Given the description of an element on the screen output the (x, y) to click on. 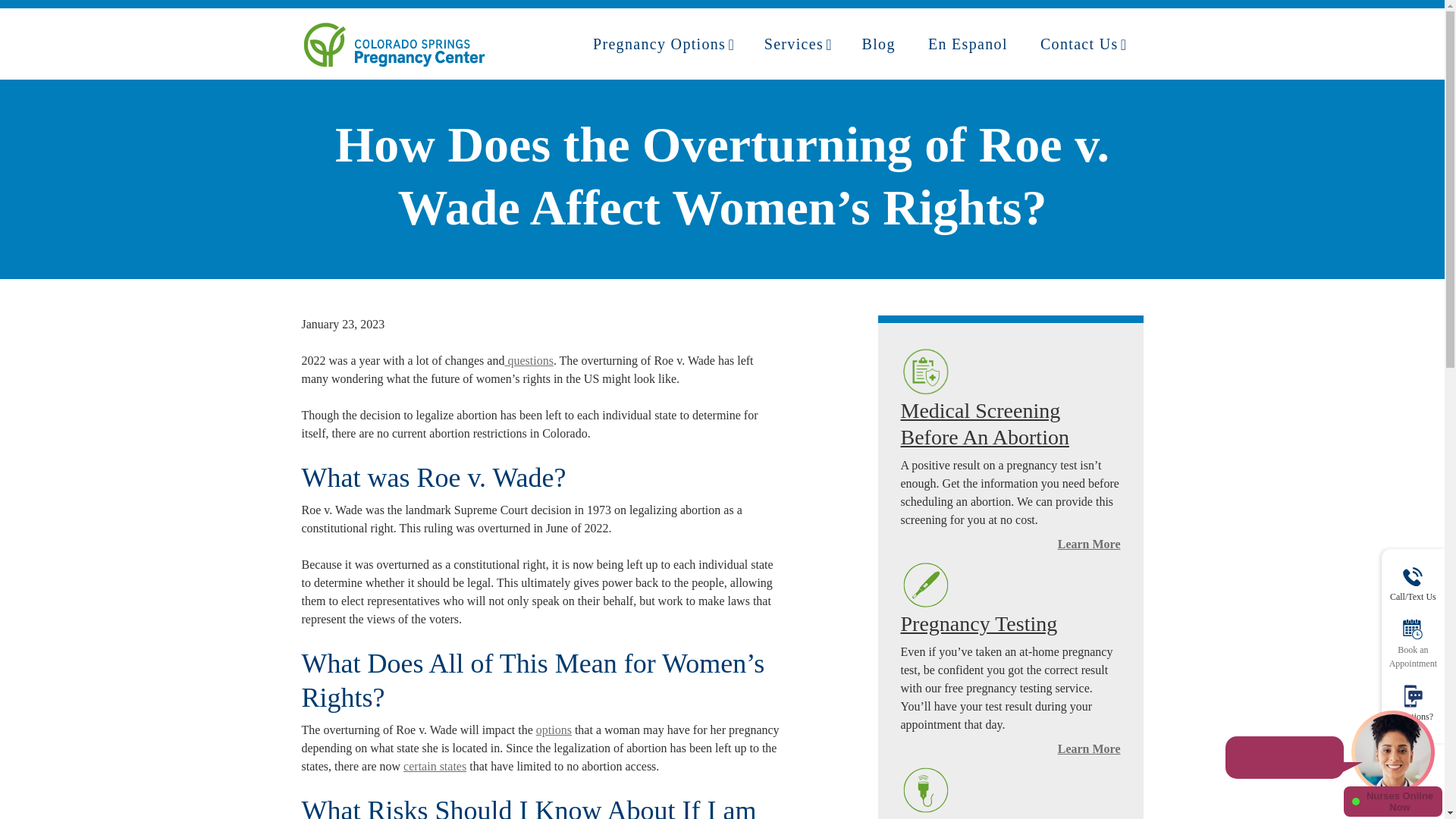
Ultrasounds (952, 818)
Pregnancy Testing (979, 623)
Services (798, 43)
certain states (434, 766)
Services (798, 43)
En Espanol (971, 43)
Learn More (1089, 543)
Contact Us (1083, 43)
Blog (882, 43)
Pregnancy Options (663, 43)
Pregnancy Options (663, 43)
Medical Screening Before An Abortion (984, 423)
Blog (882, 43)
options (553, 729)
questions (528, 359)
